Given the description of an element on the screen output the (x, y) to click on. 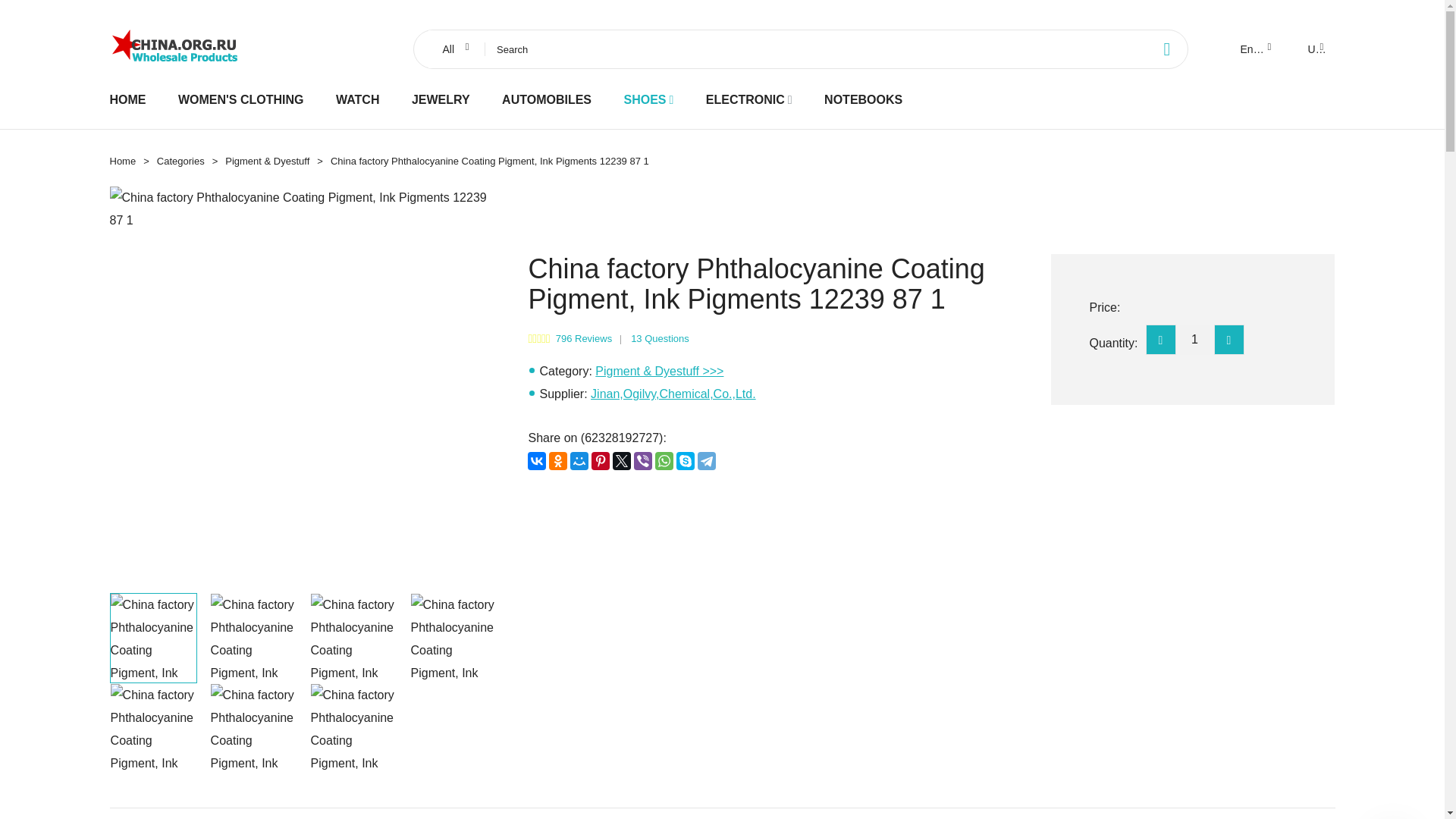
Jinan,Ogilvy,Chemical,Co.,Ltd. (673, 393)
Categories (181, 161)
WOMEN'S CLOTHING (240, 99)
WATCH (357, 99)
Twitter (621, 461)
1 (1194, 339)
796 Reviews (583, 337)
JEWELRY (441, 99)
ELECTRONIC (745, 99)
All (454, 48)
Pinterest (600, 461)
AUTOMOBILES (546, 99)
SHOES (644, 99)
Home (122, 161)
HOME (127, 99)
